Given the description of an element on the screen output the (x, y) to click on. 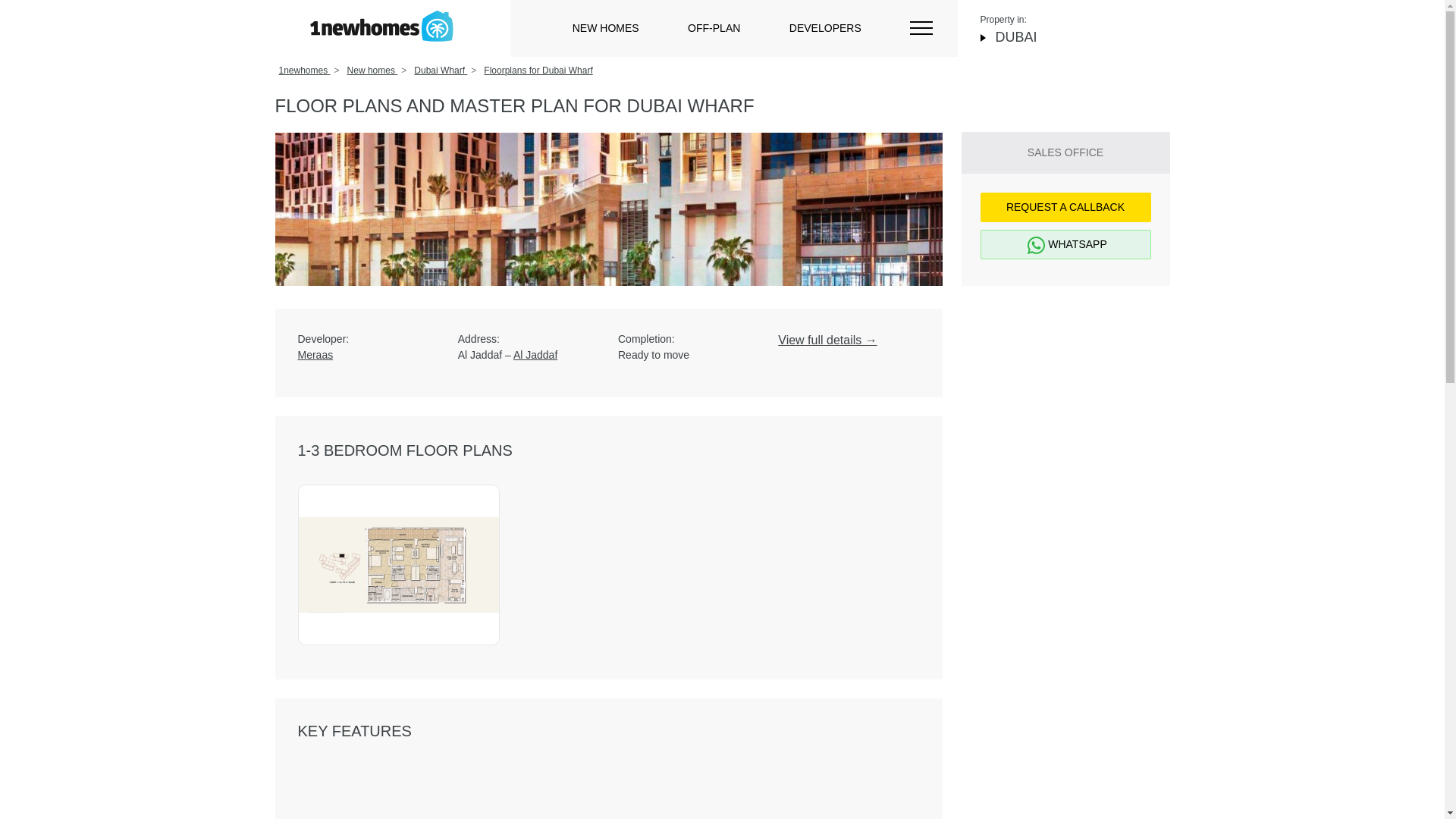
Dubai Wharf (440, 70)
Meraas (367, 355)
Floorplans for Dubai Wharf (537, 70)
WHATSAPP (1064, 244)
NEW HOMES (605, 28)
OFF-PLAN (713, 28)
DEVELOPERS (825, 28)
New homes (372, 70)
REQUEST A CALLBACK (1064, 206)
Al Jaddaf (535, 354)
1newhomes (304, 70)
New homes in Dubai (380, 25)
